Given the description of an element on the screen output the (x, y) to click on. 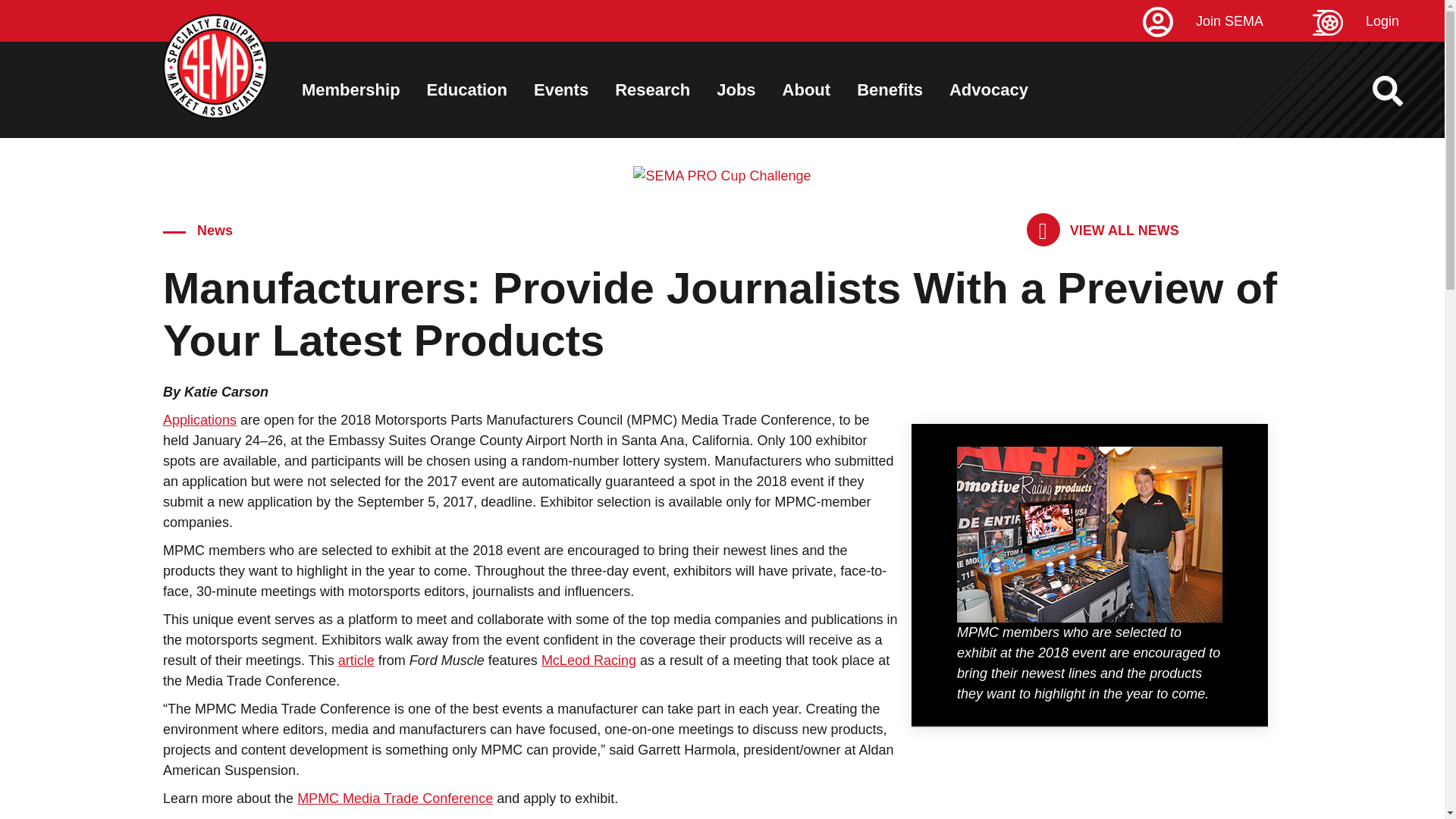
media trade conference (1089, 534)
Login (1378, 20)
Jobs (735, 89)
eNews archive (1102, 230)
Applications (199, 419)
McLeod Racing (588, 660)
Search Sema.org (1401, 91)
Advocacy (988, 89)
About (807, 89)
SEMA PRO Cup Challenge (721, 176)
Membership (350, 89)
VIEW ALL NEWS (1102, 230)
Education (466, 89)
Join SEMA (1225, 20)
